Given the description of an element on the screen output the (x, y) to click on. 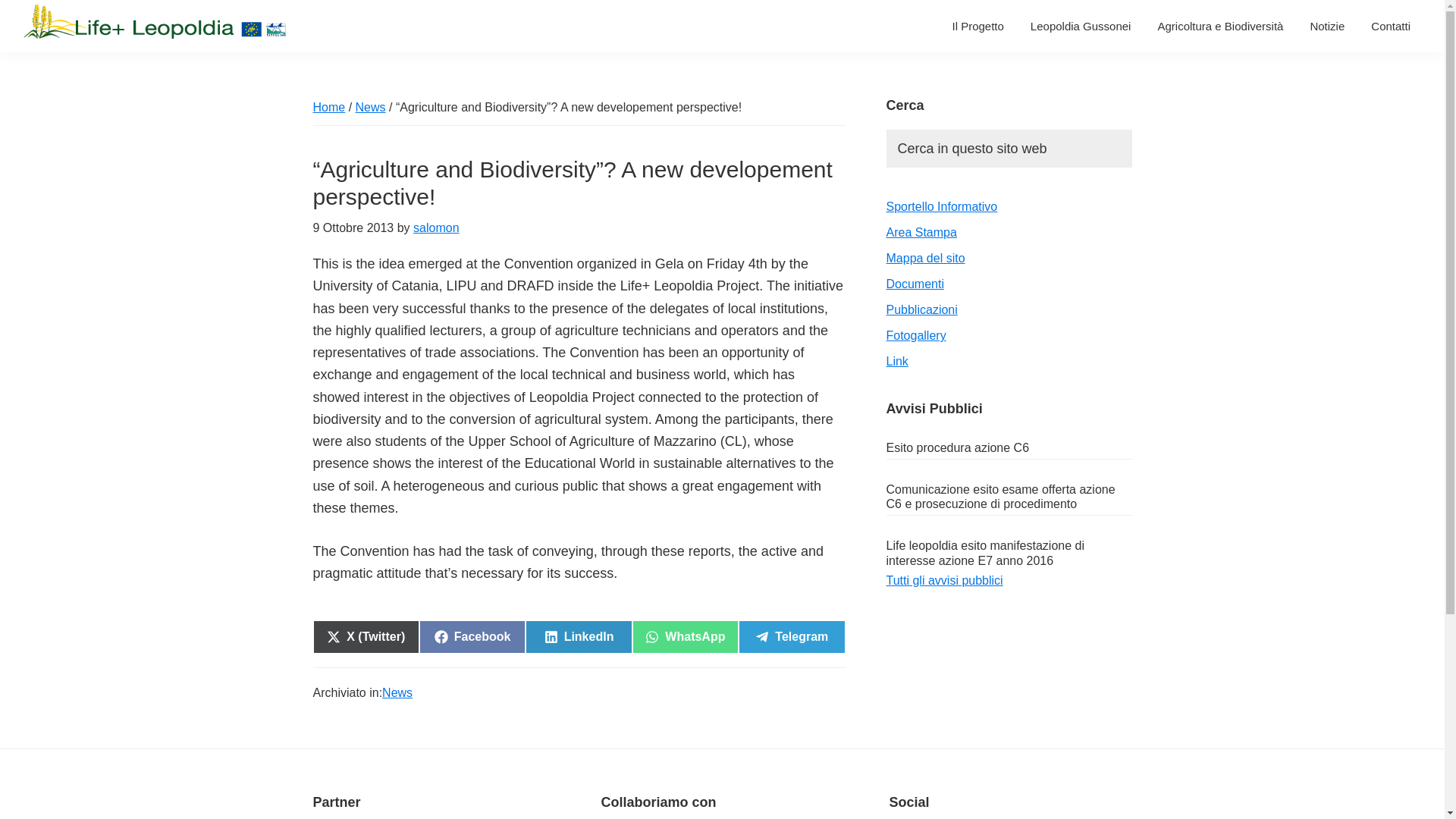
Contatti (1390, 25)
News (370, 106)
Area Stampa (920, 232)
Esito procedura azione C6 (957, 447)
Il progetto di una serra a basso impatto ambientale (1219, 25)
Fotogallery (914, 335)
Mappa del sito (924, 257)
News (396, 691)
Pubblicazioni (920, 309)
Link (684, 636)
